Given the description of an element on the screen output the (x, y) to click on. 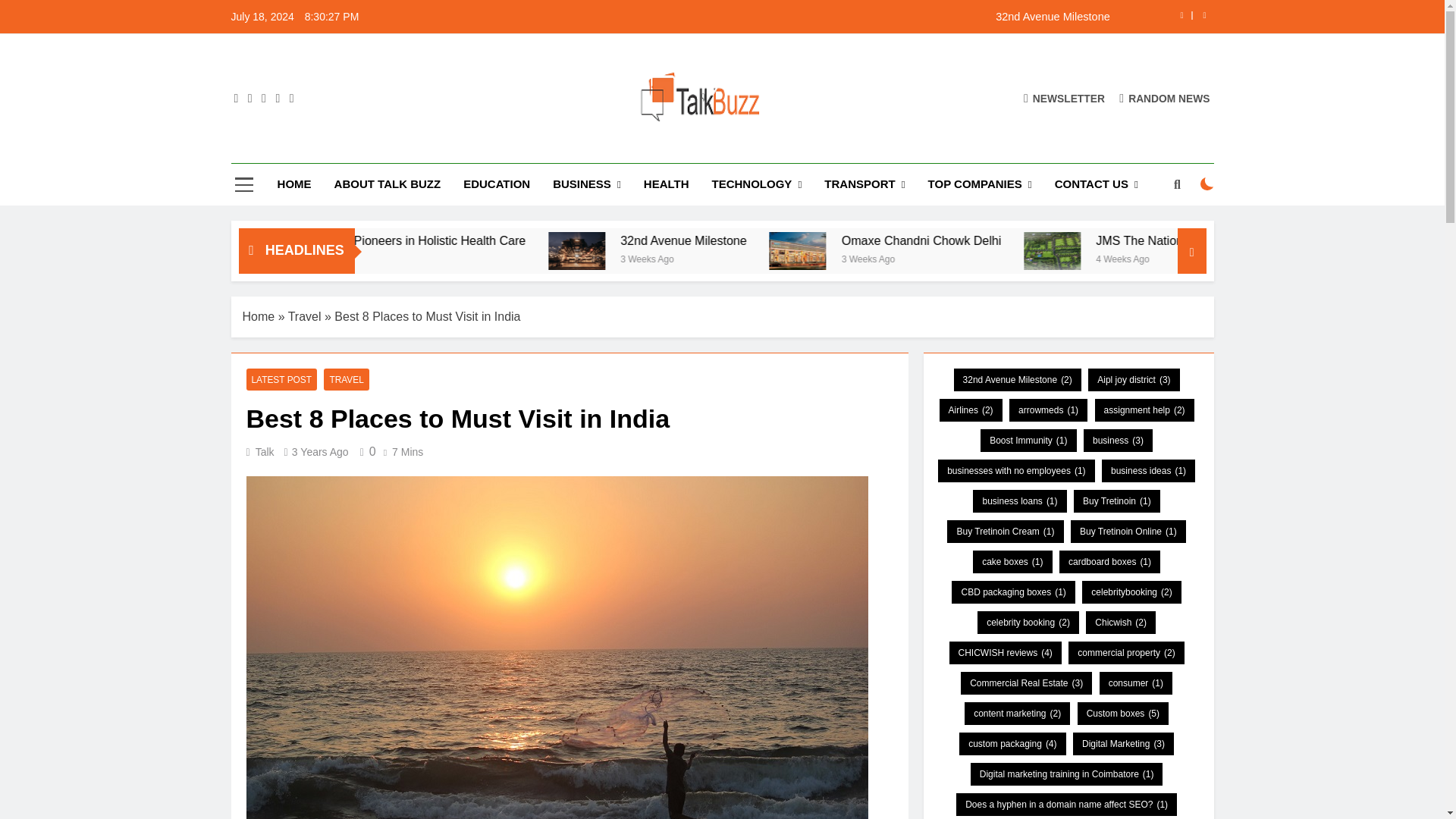
Talk Buzz (503, 149)
32nd Avenue Milestone (817, 16)
HOME (294, 183)
32nd Avenue Milestone (817, 16)
EDUCATION (496, 183)
on (1206, 183)
BUSINESS (586, 184)
RANDOM NEWS (1164, 97)
ABOUT TALK BUZZ (387, 183)
NEWSLETTER (1064, 97)
